Given the description of an element on the screen output the (x, y) to click on. 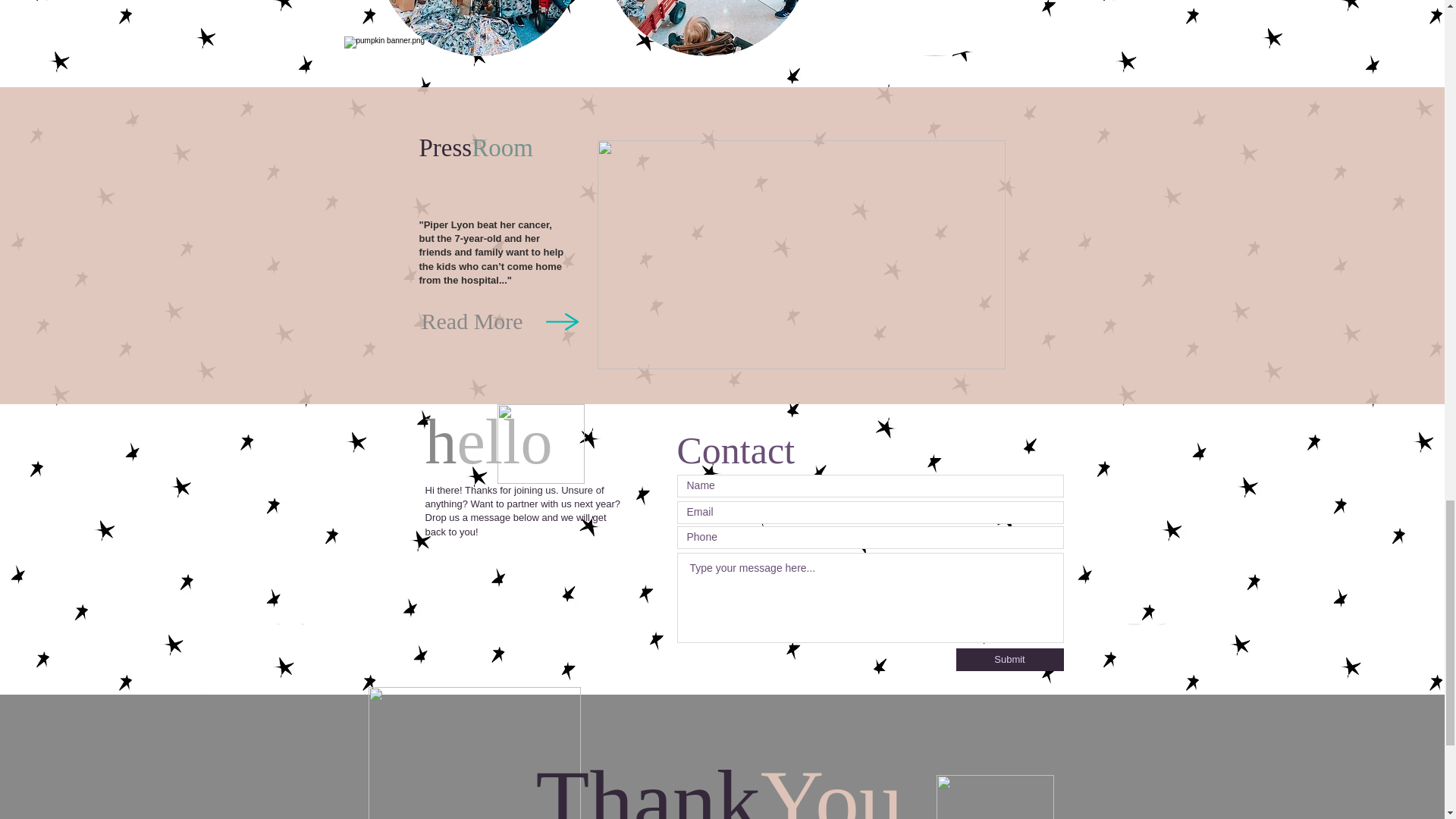
Submit (1008, 659)
Riley Article.png (801, 254)
